Given the description of an element on the screen output the (x, y) to click on. 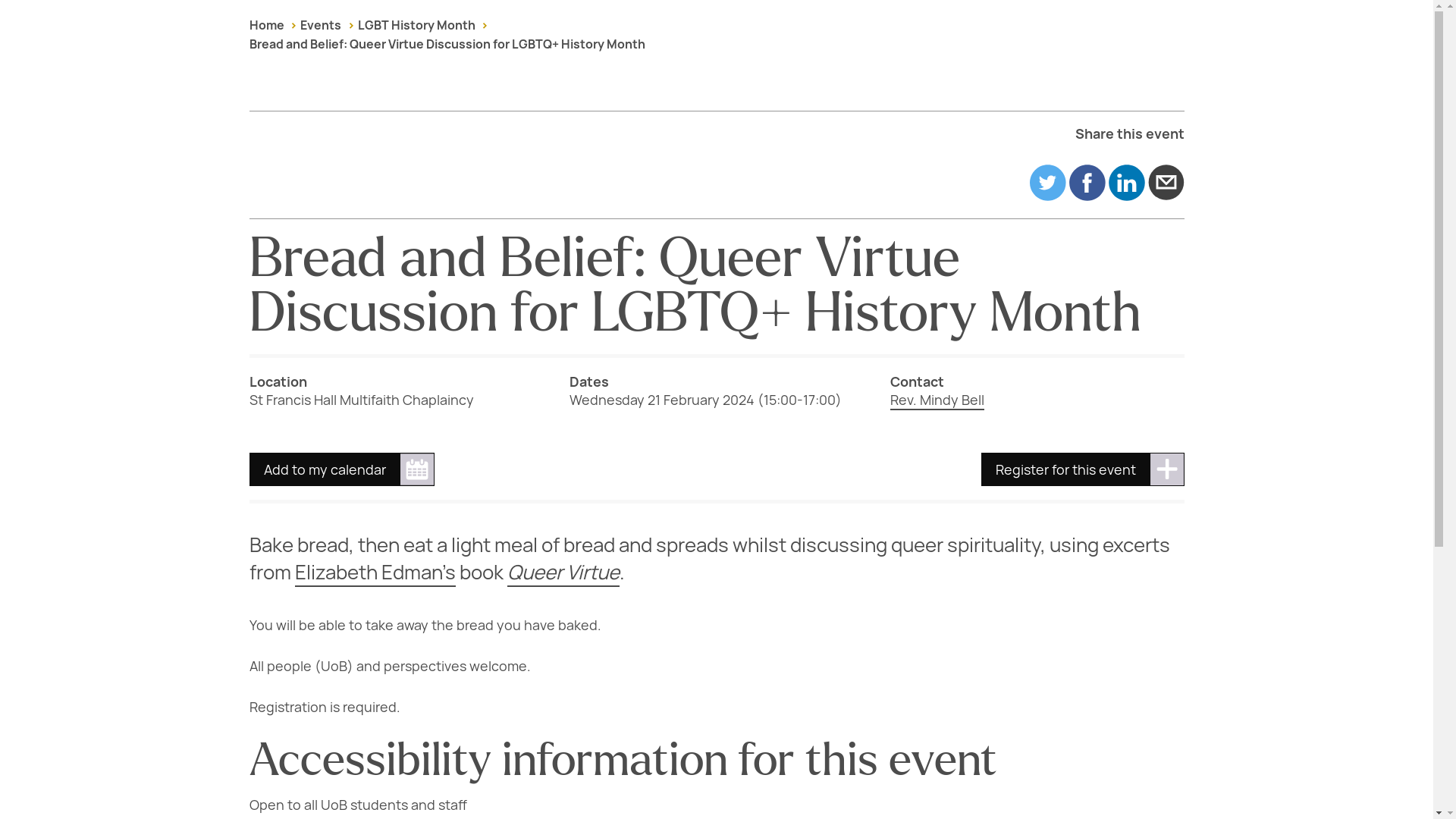
Share on email (1166, 182)
Queer Virtue (562, 572)
Elizabeth Edman's (374, 572)
Home (265, 25)
Events (319, 25)
Share in LinkedIn (1126, 182)
Add to my calendar (340, 468)
Share on linkedin (1126, 182)
Rev. Mindy Bell (936, 400)
Share on Facebook (1086, 182)
